Given the description of an element on the screen output the (x, y) to click on. 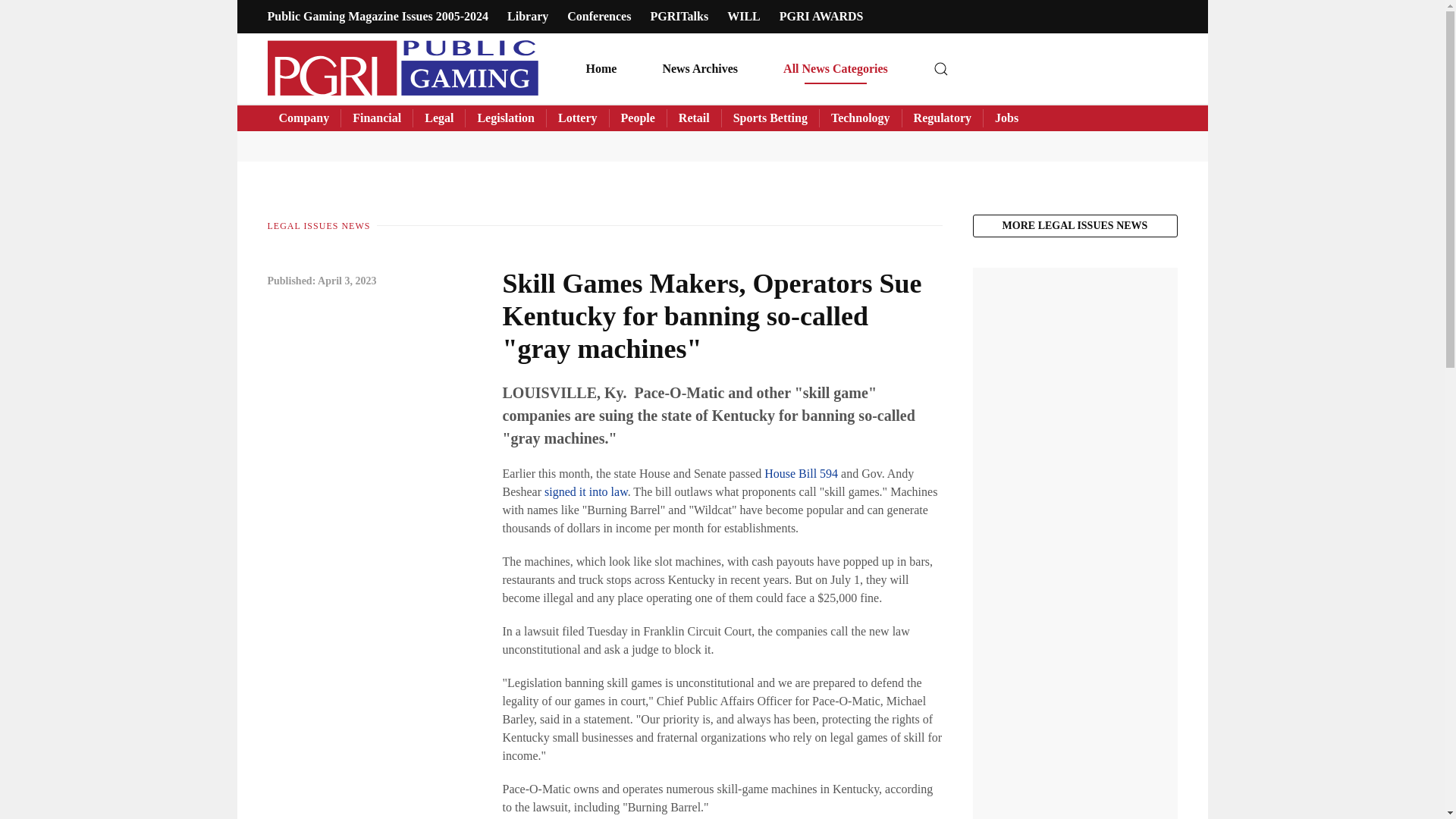
PGRITalks (678, 16)
Library (527, 16)
WILL (743, 16)
Browse all Legal Issues news (1074, 225)
Public Gaming Magazine Issues 2005-2024 (376, 16)
Conferences (598, 16)
All News Categories (835, 67)
PGRI AWARDS (820, 16)
News Archives (700, 67)
